Given the description of an element on the screen output the (x, y) to click on. 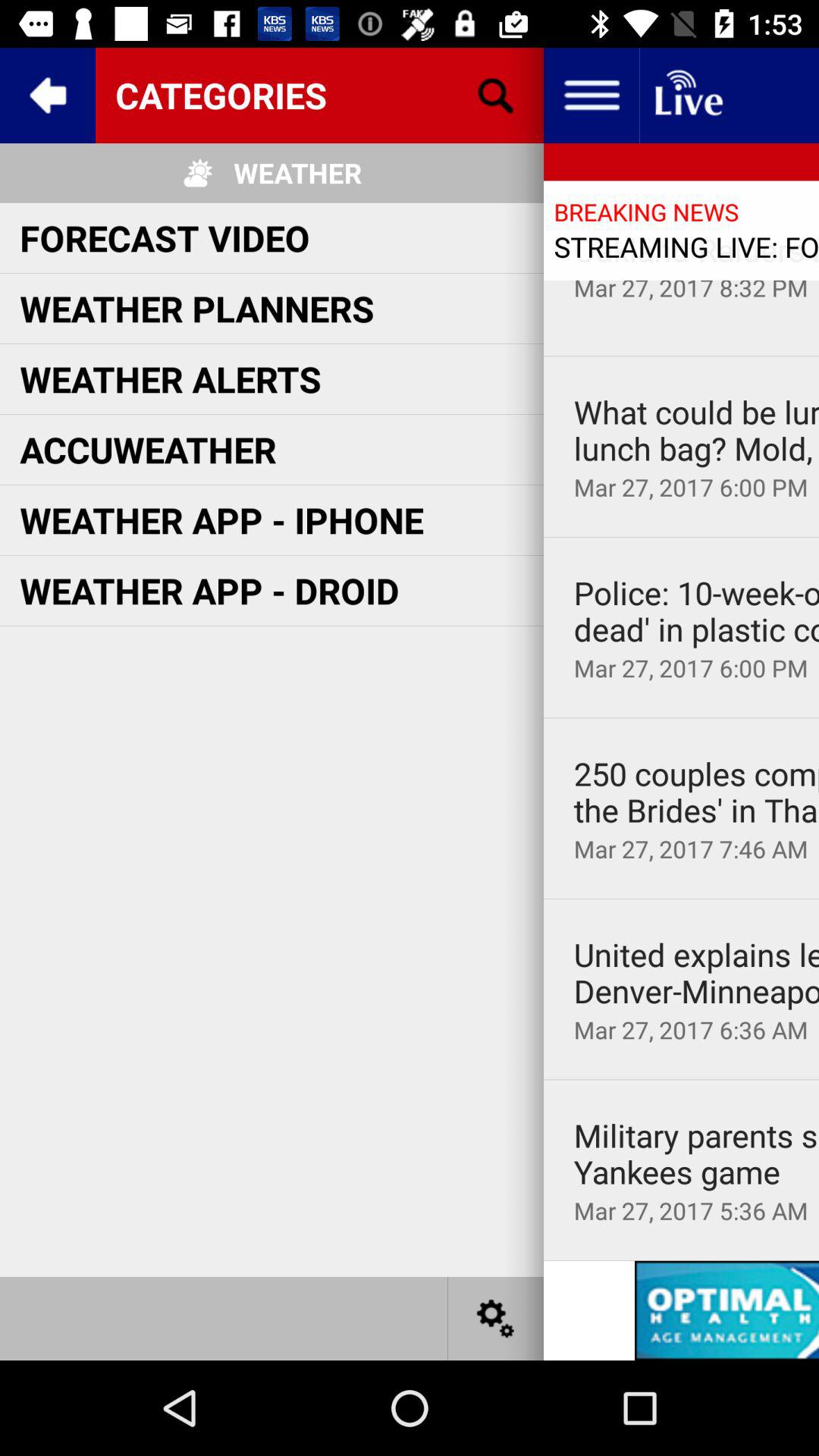
choose the app above the mar 27 2017 app (696, 430)
